Given the description of an element on the screen output the (x, y) to click on. 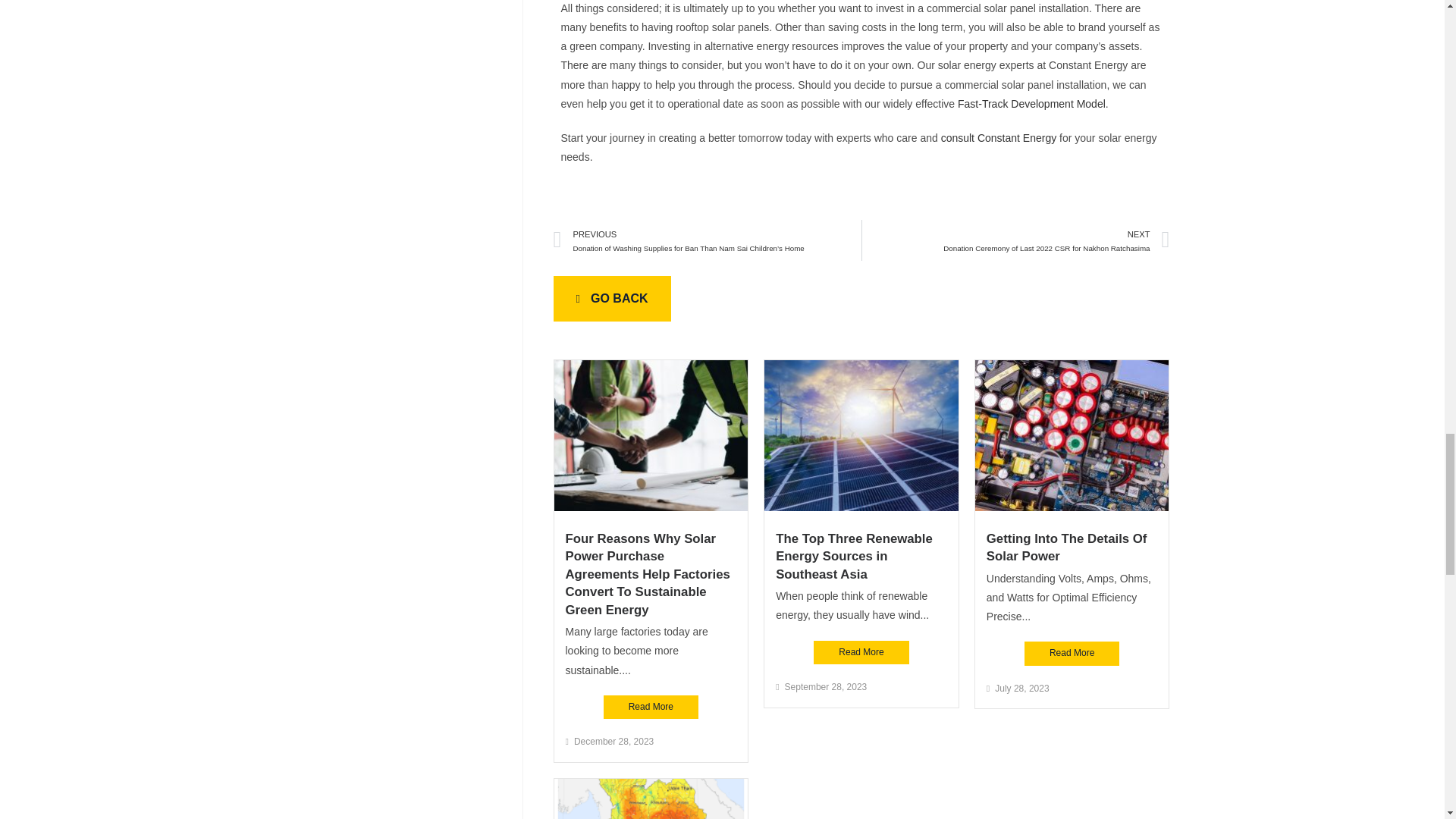
The Top Three Renewable Energy Sources in Southeast Asia (854, 556)
Getting Into The Details Of Solar Power (1067, 547)
